Given the description of an element on the screen output the (x, y) to click on. 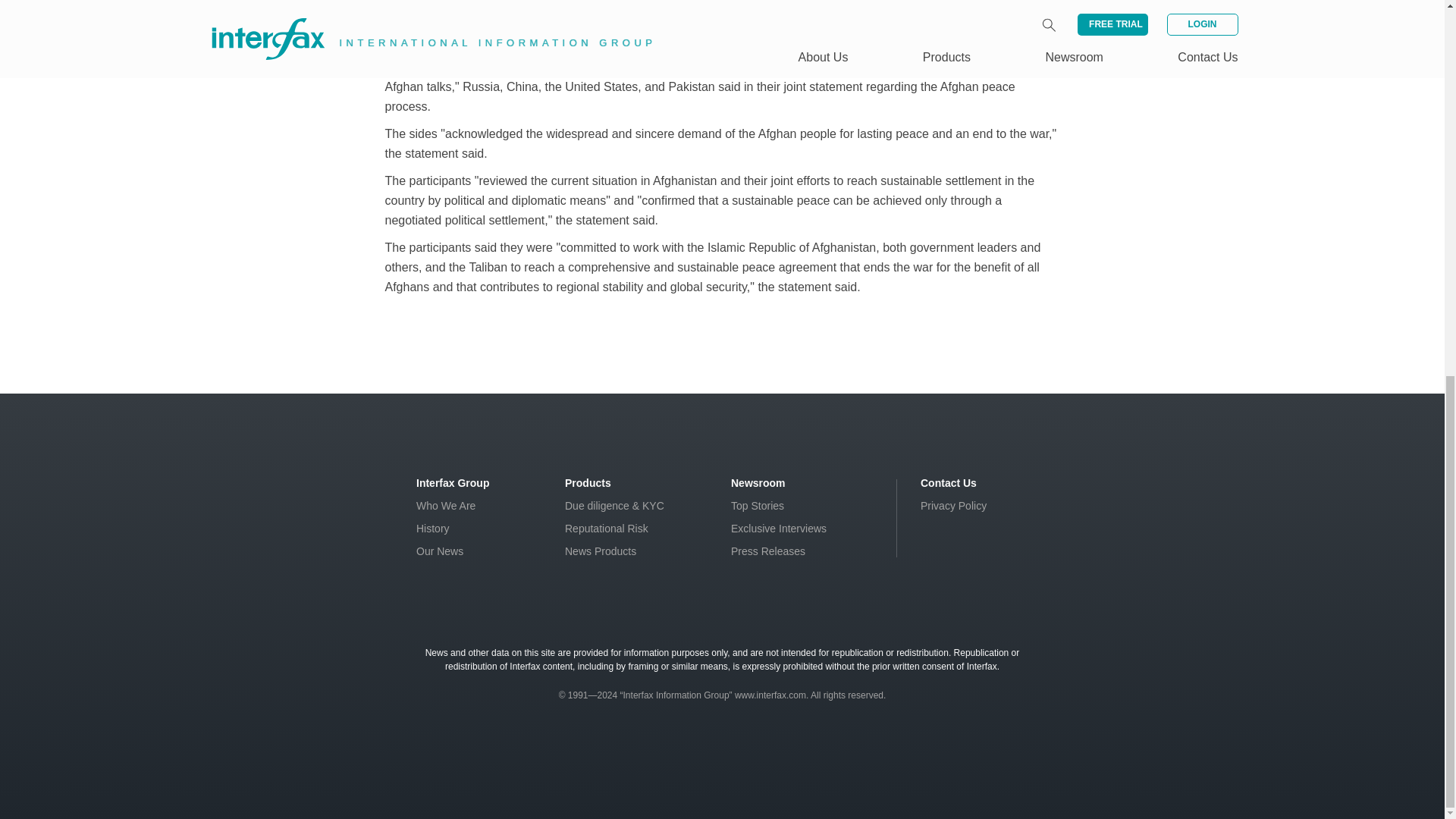
Our News (439, 551)
Who We Are (446, 505)
History (432, 528)
Interfax Group (452, 482)
